Given the description of an element on the screen output the (x, y) to click on. 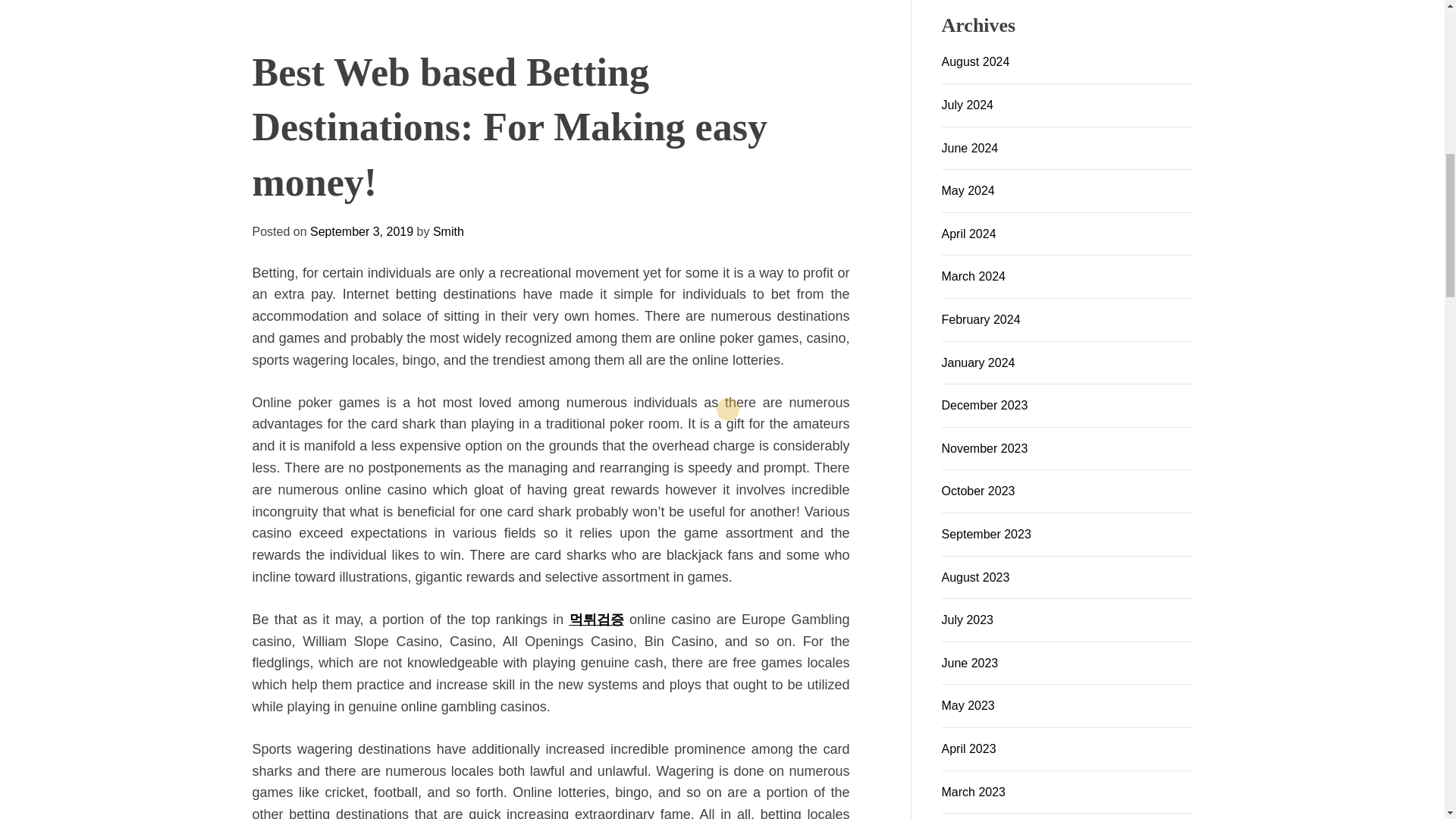
Smith (601, 415)
August 2024 (976, 61)
June 2024 (970, 147)
July 2024 (968, 104)
Smith (325, 404)
Smith (601, 415)
